Given the description of an element on the screen output the (x, y) to click on. 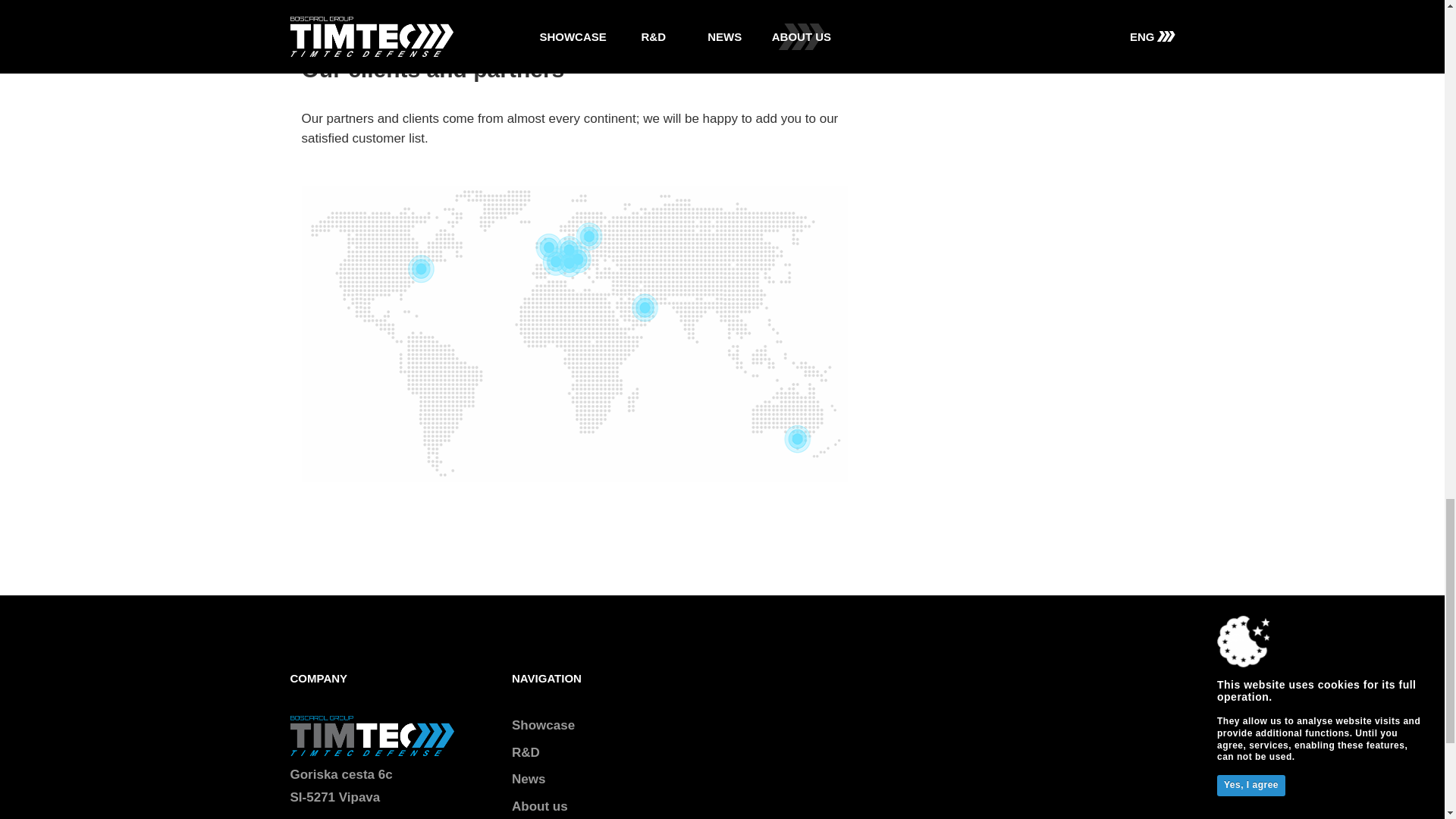
TIMTEC (370, 735)
Showcase (543, 725)
News (528, 779)
About us (539, 806)
